Given the description of an element on the screen output the (x, y) to click on. 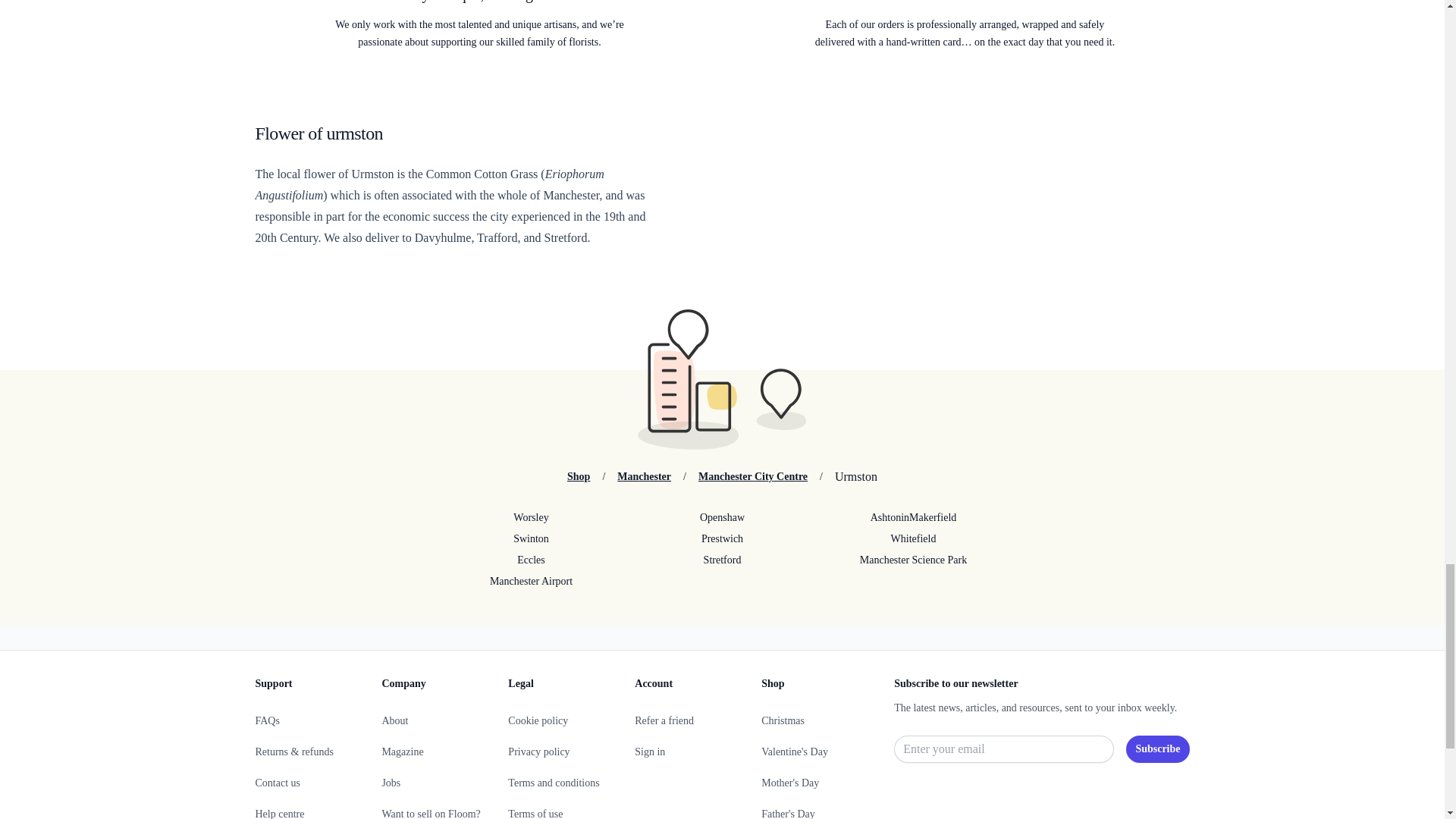
Magazine (402, 751)
Manchester Science Park (913, 560)
Manchester (644, 476)
Openshaw (721, 517)
Manchester Airport (530, 581)
Contact us (276, 782)
Prestwich (721, 539)
Help centre (279, 813)
About (394, 720)
FAQs (266, 720)
